Given the description of an element on the screen output the (x, y) to click on. 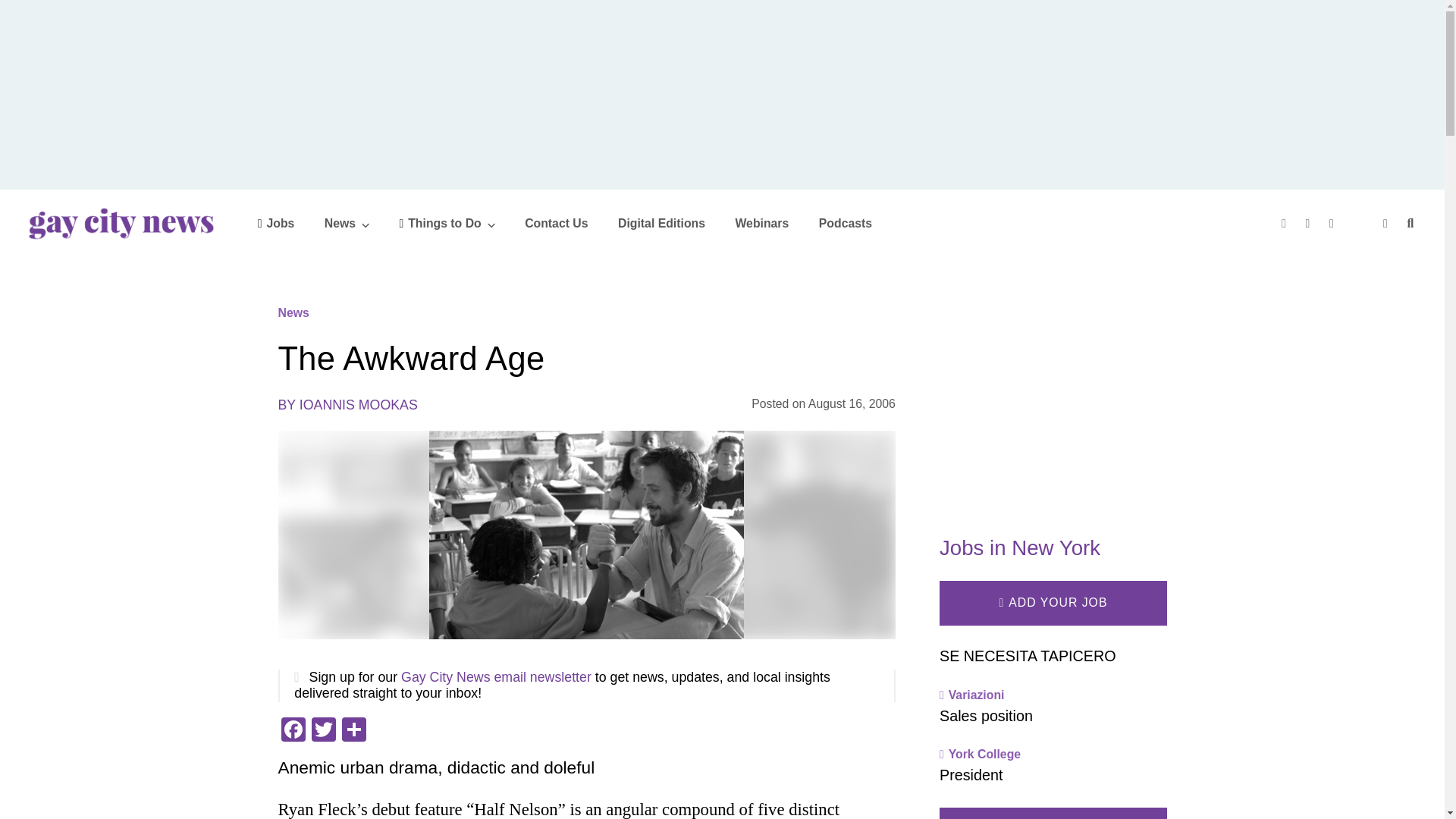
Twitter (322, 731)
Facebook (292, 731)
Webinars (762, 223)
Contact Us (556, 223)
News (346, 223)
Digital Editions (660, 223)
Podcasts (845, 223)
Jobs (276, 223)
Things to Do (446, 223)
